Given the description of an element on the screen output the (x, y) to click on. 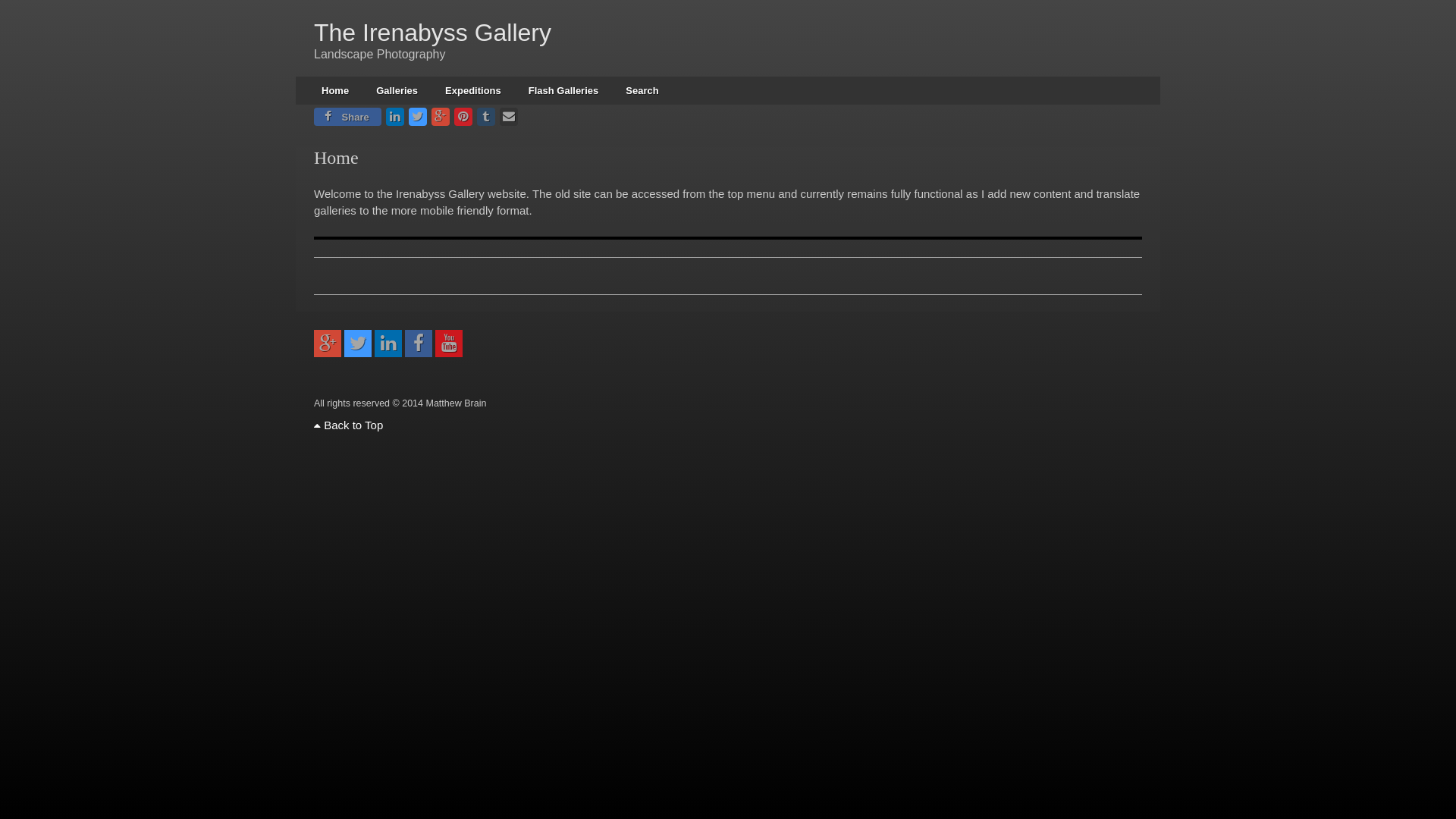
Flash Galleries Element type: text (563, 90)
Search Element type: text (641, 90)
Back to Top Element type: text (347, 424)
Twitter Element type: hover (357, 343)
Twitter Element type: hover (417, 116)
Pinterest Element type: hover (463, 116)
Tumblr Element type: hover (485, 116)
Email Element type: hover (508, 116)
The Irenabyss Gallery Element type: text (432, 32)
Google Plus Element type: hover (327, 343)
Galleries Element type: text (396, 90)
Google Plus Element type: hover (440, 116)
Home Element type: text (334, 90)
LinkedIn Element type: hover (394, 116)
YouTube Element type: hover (448, 343)
Expeditions Element type: text (473, 90)
LinkedIn Element type: hover (387, 343)
Facebook Element type: hover (418, 343)
Share Element type: text (347, 116)
